Given the description of an element on the screen output the (x, y) to click on. 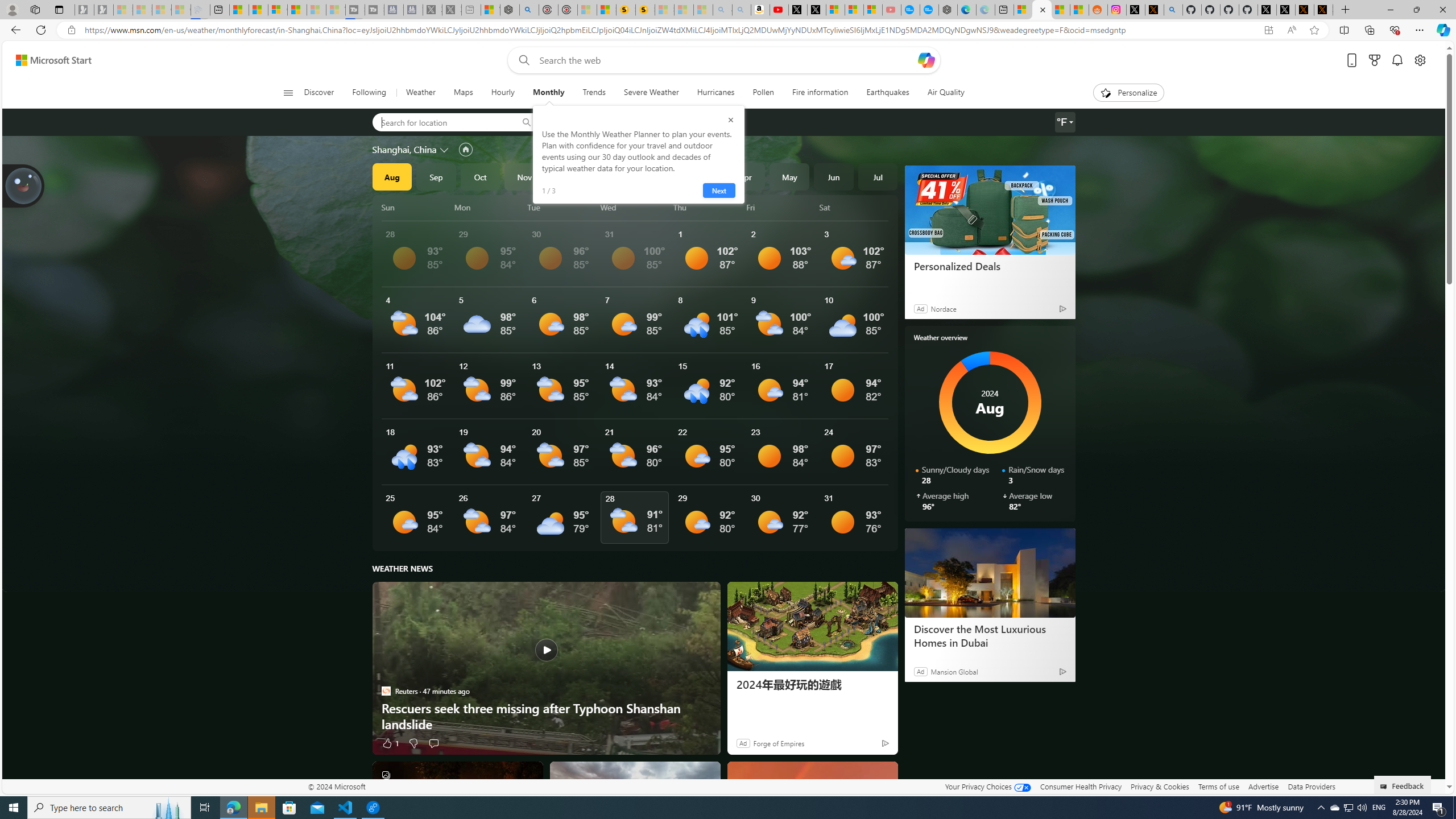
Personalized Deals (989, 209)
Forge of Empires (777, 742)
Sep (435, 176)
Open navigation menu (287, 92)
Overview (277, 9)
Fire information (820, 92)
Oct (480, 176)
Jul (877, 176)
